Given the description of an element on the screen output the (x, y) to click on. 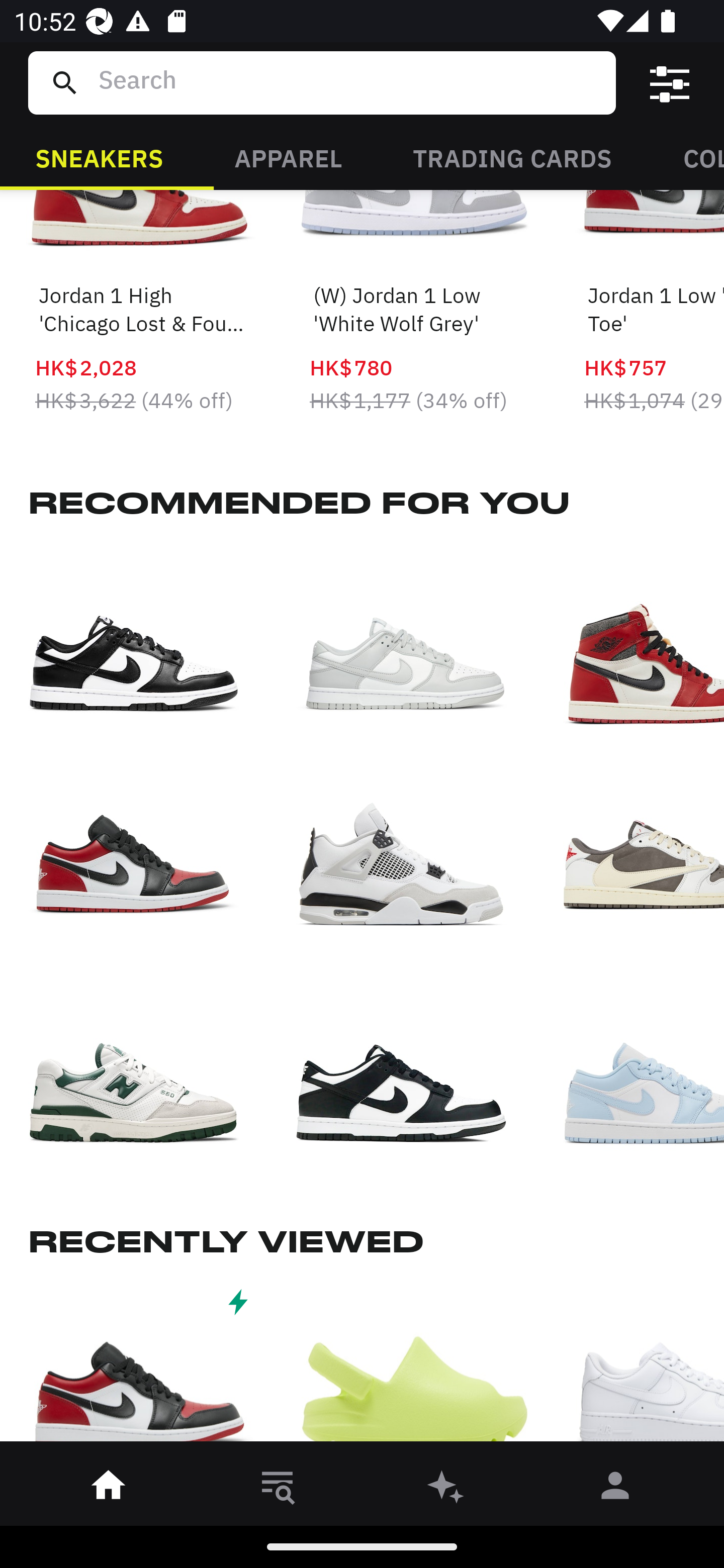
Search (349, 82)
 (669, 82)
SNEAKERS (99, 156)
APPAREL (287, 156)
TRADING CARDS (512, 156)
 (140, 1366)
󰋜 (108, 1488)
󱎸 (277, 1488)
󰫢 (446, 1488)
󰀄 (615, 1488)
